Given the description of an element on the screen output the (x, y) to click on. 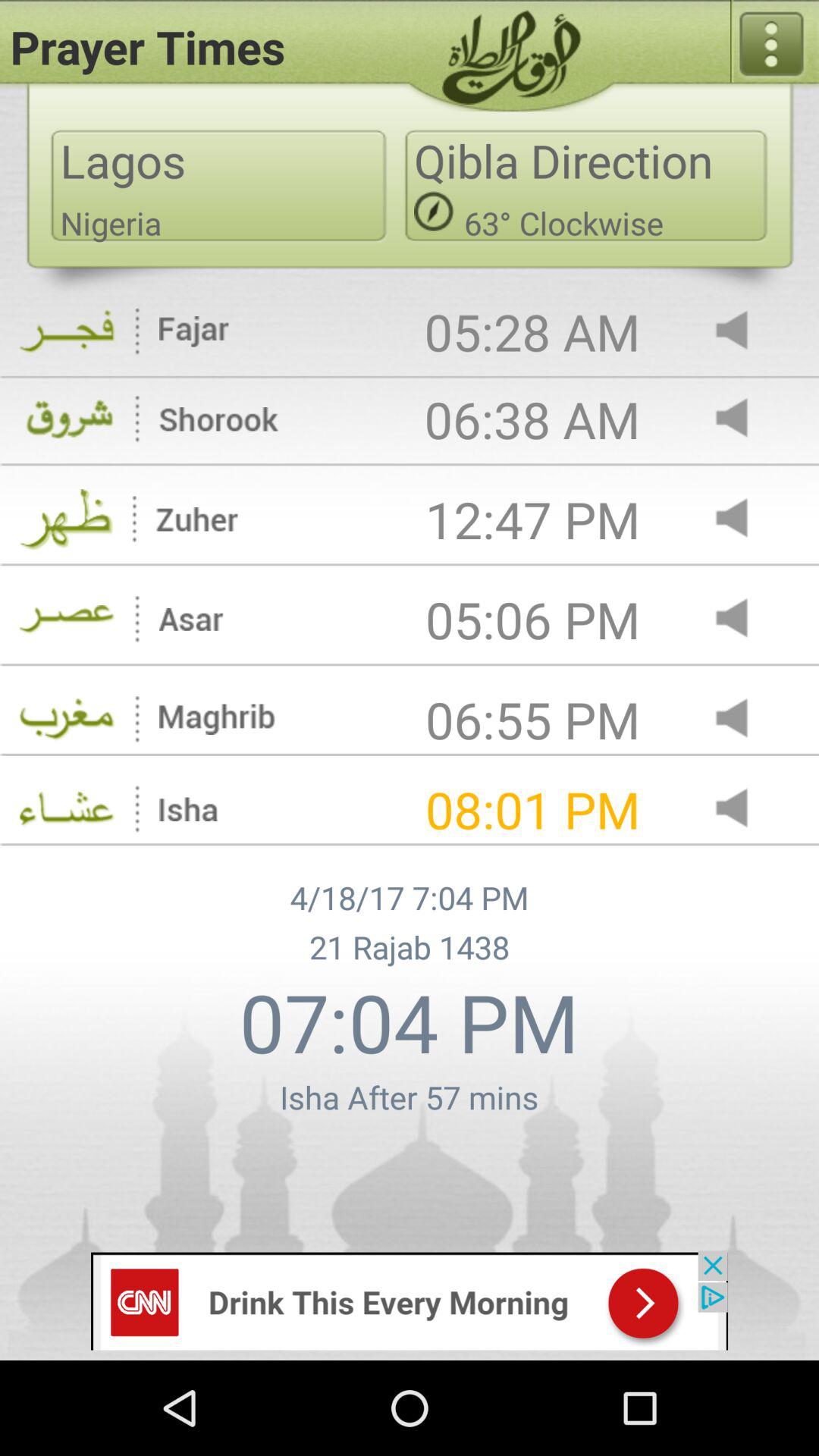
advertisement (409, 1300)
